Given the description of an element on the screen output the (x, y) to click on. 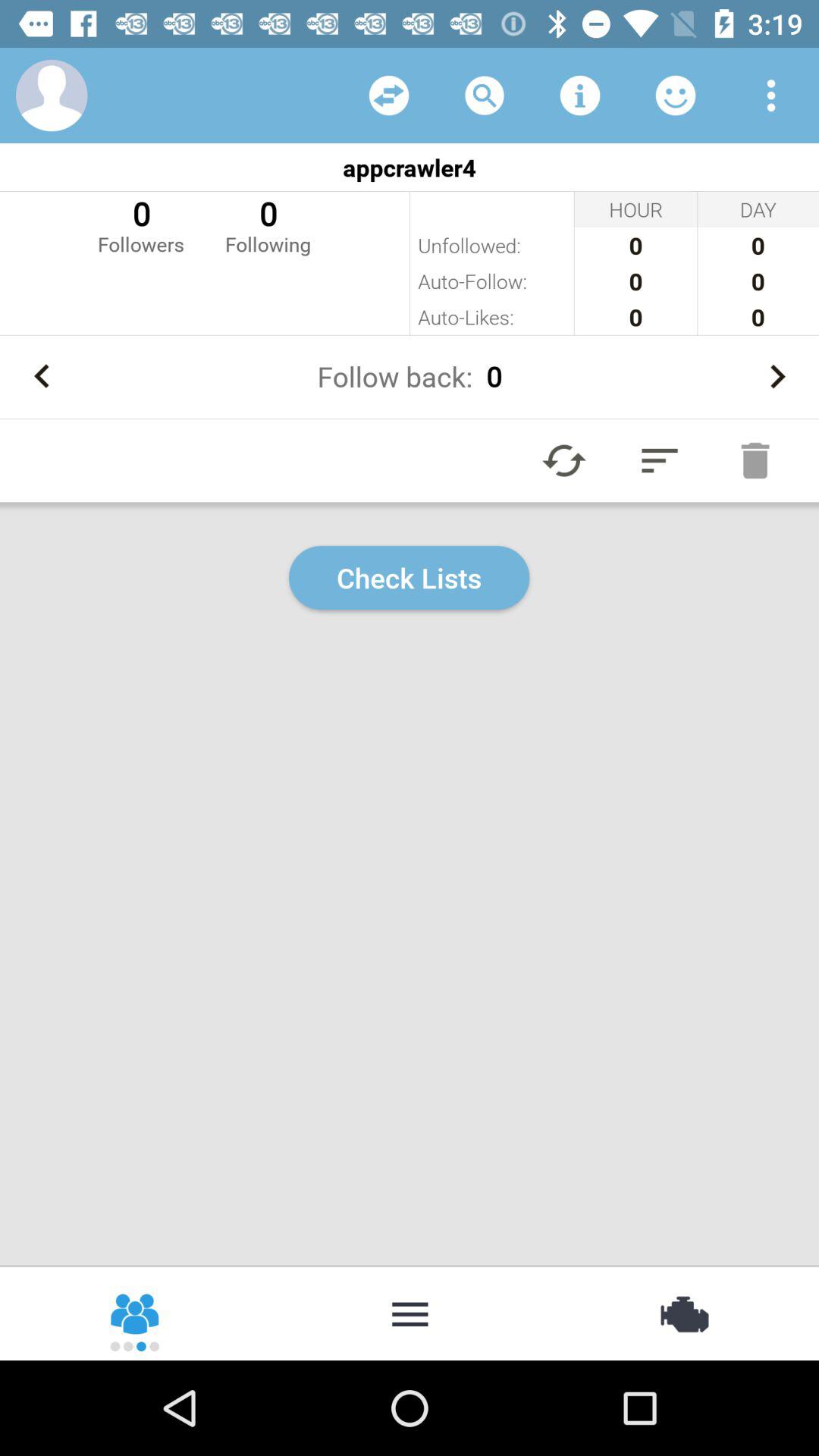
tap the item below the appcrawler4 (268, 224)
